Given the description of an element on the screen output the (x, y) to click on. 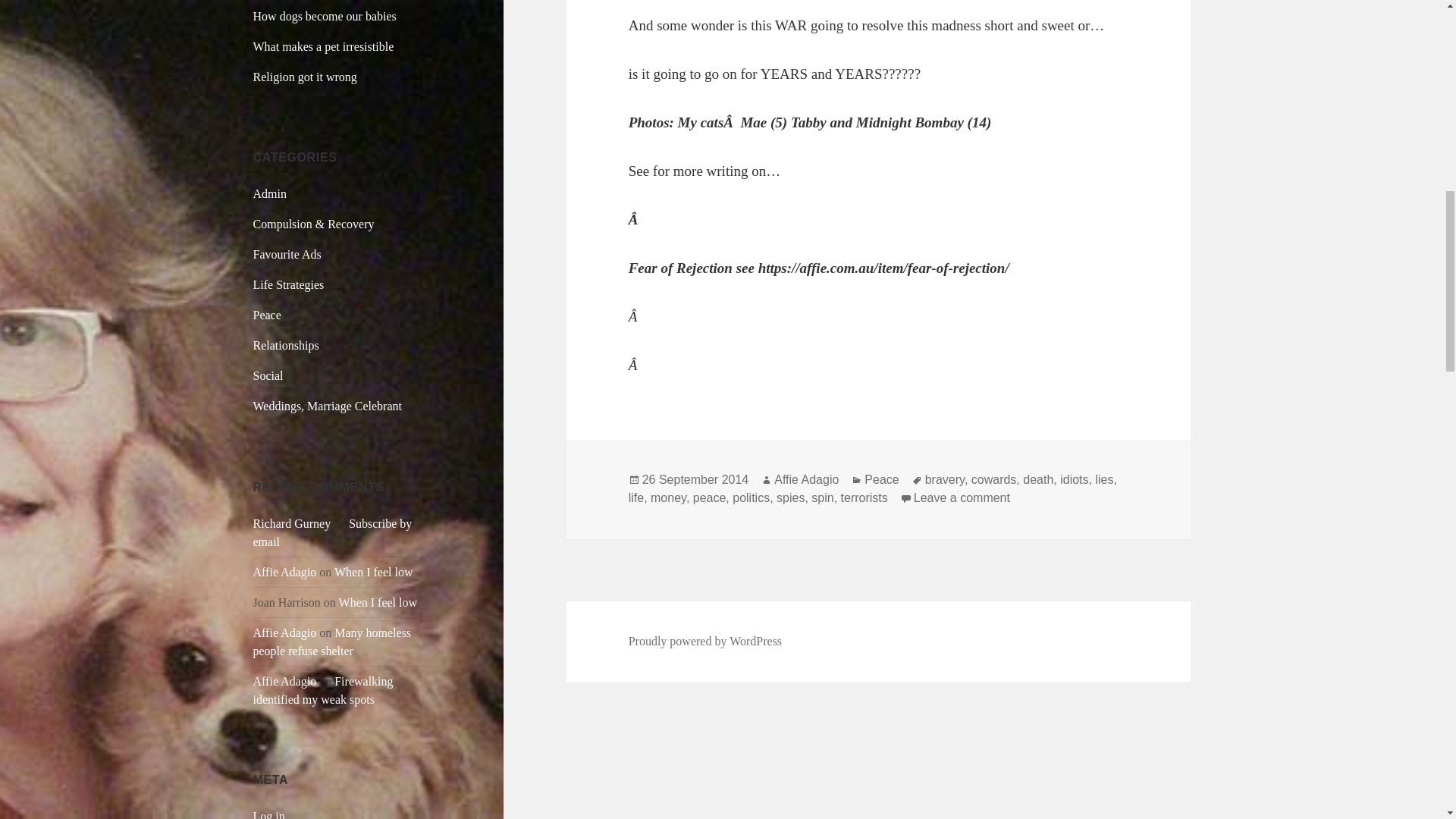
Admin (269, 193)
Log in (269, 814)
Firewalking identified my weak spots (323, 689)
Peace (267, 314)
Many homeless people refuse shelter (332, 641)
When I feel low (373, 571)
Weddings, Marriage Celebrant (327, 405)
Relationships (285, 345)
Religion got it wrong (304, 76)
Affie Adagio (285, 632)
